Given the description of an element on the screen output the (x, y) to click on. 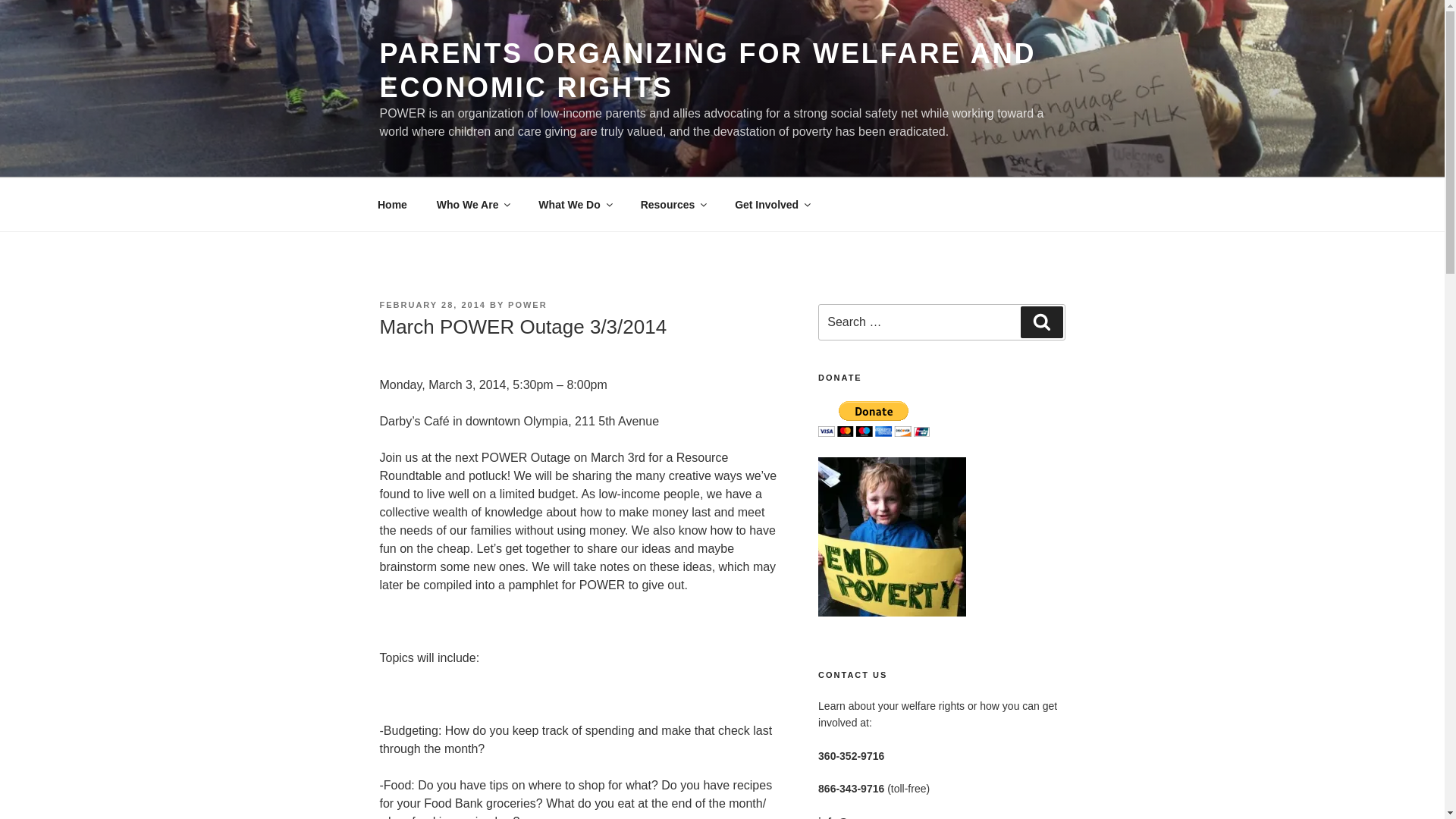
What We Do (574, 204)
Resources (673, 204)
FEBRUARY 28, 2014 (431, 304)
Home (392, 204)
Who We Are (472, 204)
POWER (527, 304)
PARENTS ORGANIZING FOR WELFARE AND ECONOMIC RIGHTS (706, 70)
Get Involved (772, 204)
